Given the description of an element on the screen output the (x, y) to click on. 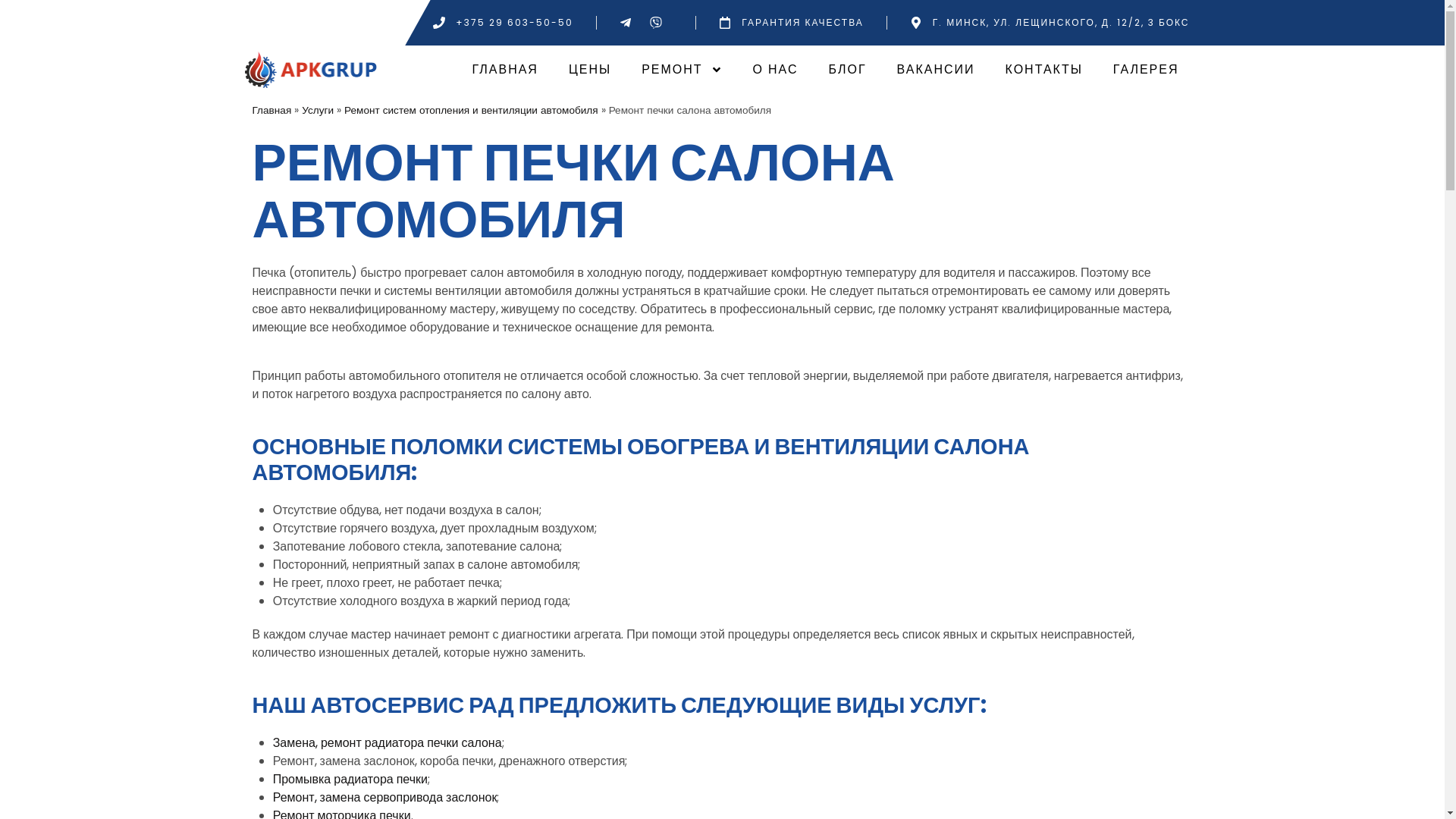
+375 29 603-50-50 Element type: text (503, 22)
